Given the description of an element on the screen output the (x, y) to click on. 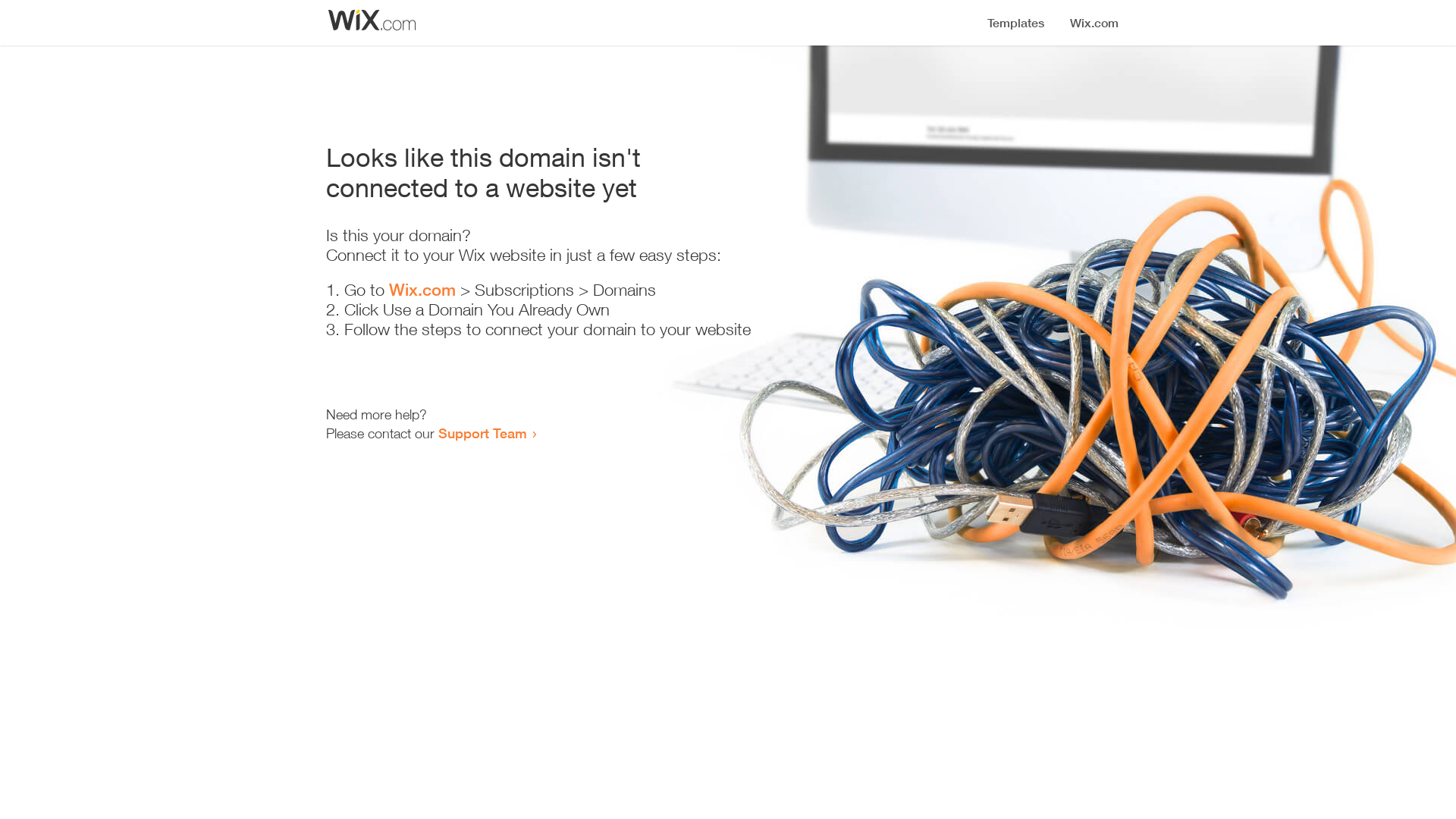
Support Team Element type: text (482, 432)
Wix.com Element type: text (422, 289)
